Given the description of an element on the screen output the (x, y) to click on. 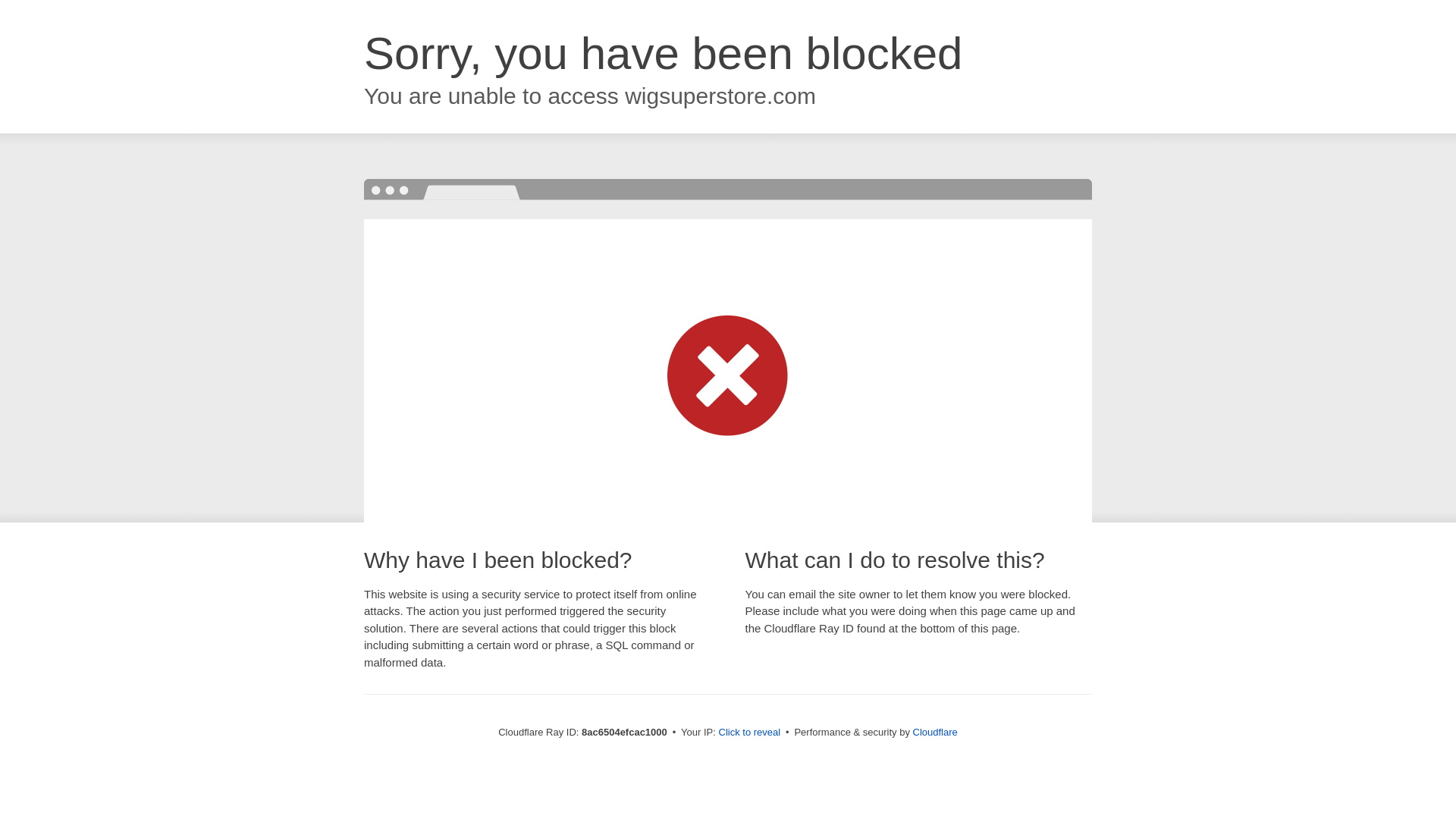
Click to reveal (749, 732)
Cloudflare (935, 731)
